Given the description of an element on the screen output the (x, y) to click on. 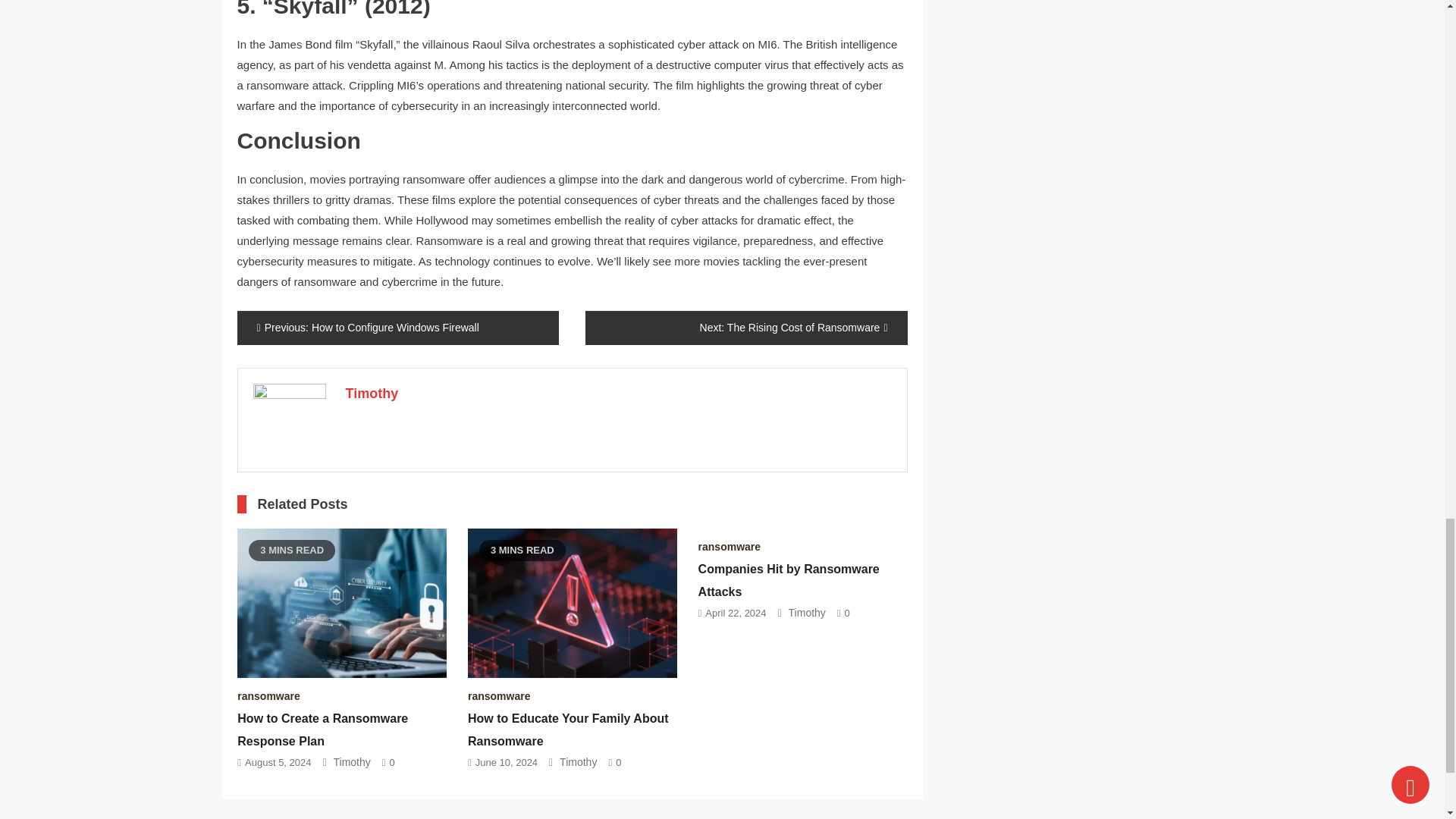
ransomware (268, 695)
ransomware (729, 546)
Companies Hit by Ransomware Attacks (788, 580)
Timothy (807, 612)
Next: The Rising Cost of Ransomware (746, 327)
Timothy (372, 393)
How to Create a Ransomware Response Plan (322, 729)
August 5, 2024 (277, 762)
Timothy (352, 761)
ransomware (498, 695)
